Given the description of an element on the screen output the (x, y) to click on. 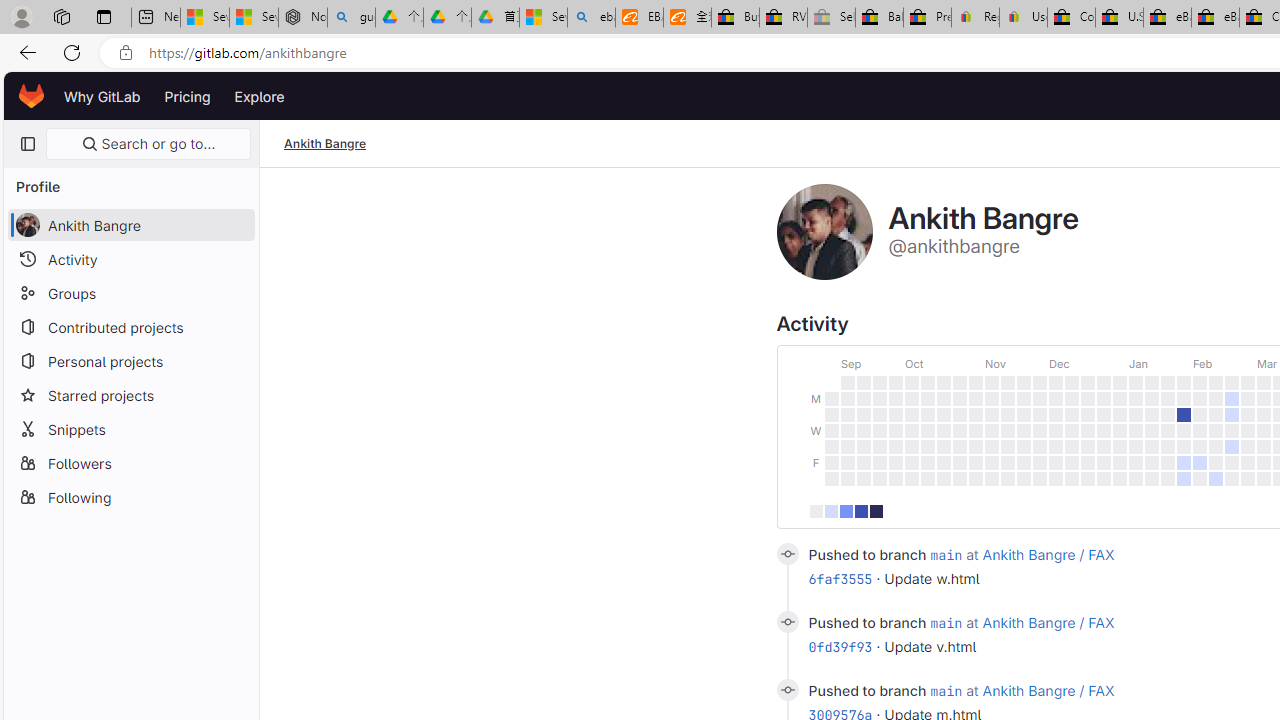
Why GitLab (102, 95)
avatar Ankith Bangre (130, 224)
User Privacy Notice | eBay (1023, 17)
0fd39f93 (839, 646)
